Given the description of an element on the screen output the (x, y) to click on. 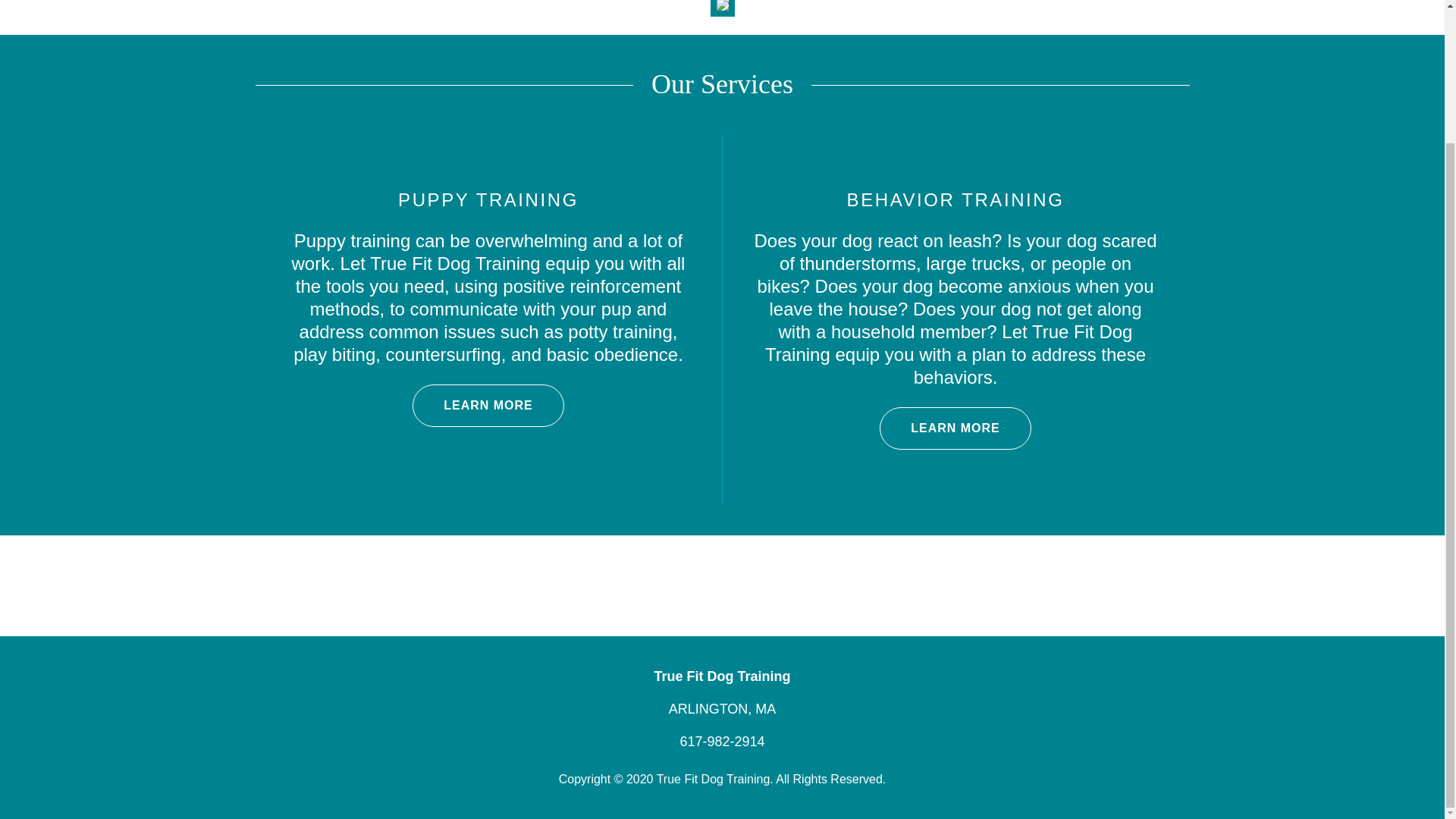
LEARN MORE (488, 405)
LEARN MORE (954, 428)
617-982-2914 (721, 741)
